Given the description of an element on the screen output the (x, y) to click on. 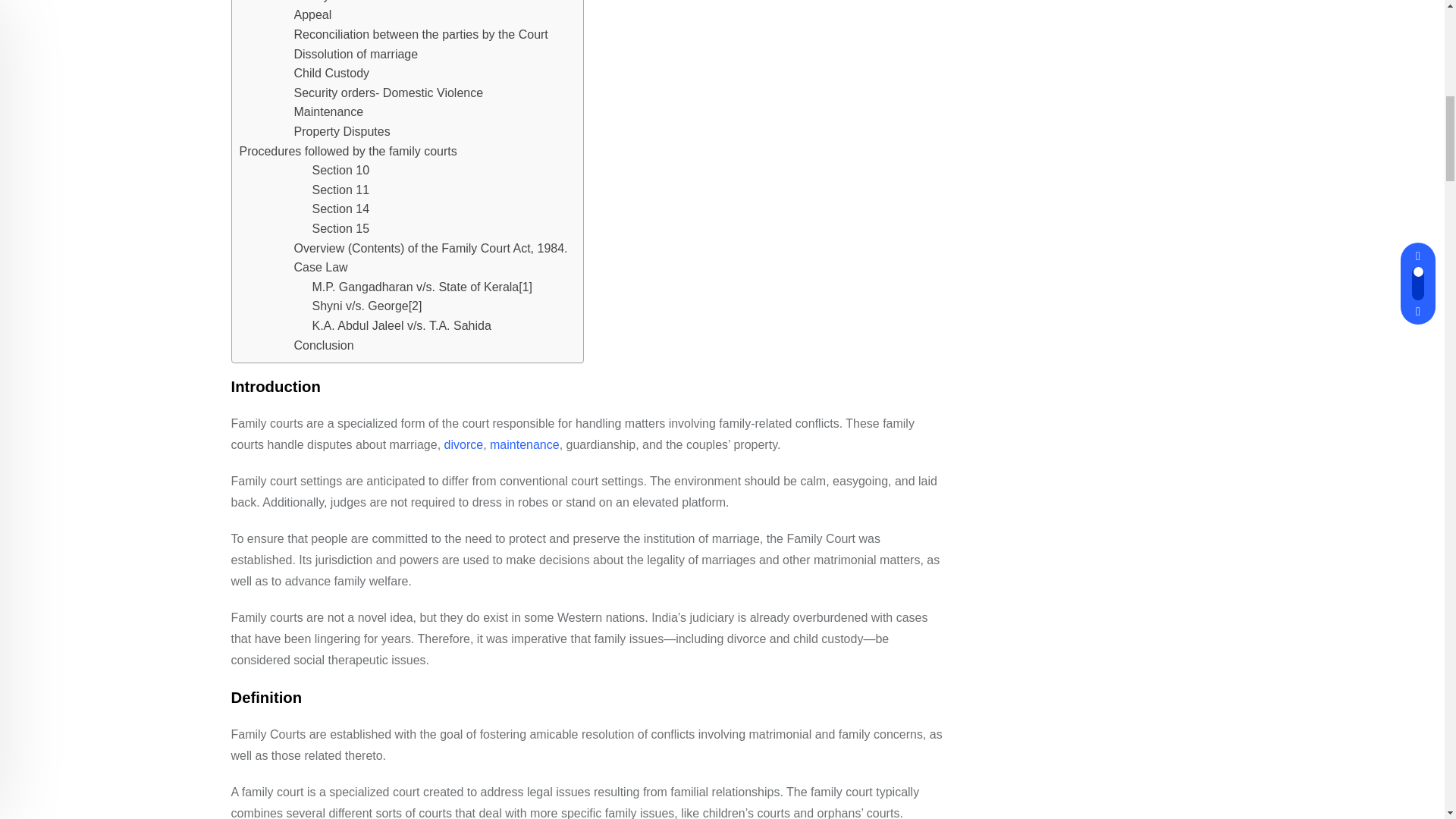
Dissolution of marriage (356, 54)
Family Courts Power over Evidence (390, 2)
Appeal (312, 14)
Security orders- Domestic Violence (388, 93)
Child Custody (331, 73)
Maintenance (329, 112)
Reconciliation between the parties by the Court (421, 35)
Property Disputes (342, 131)
